Given the description of an element on the screen output the (x, y) to click on. 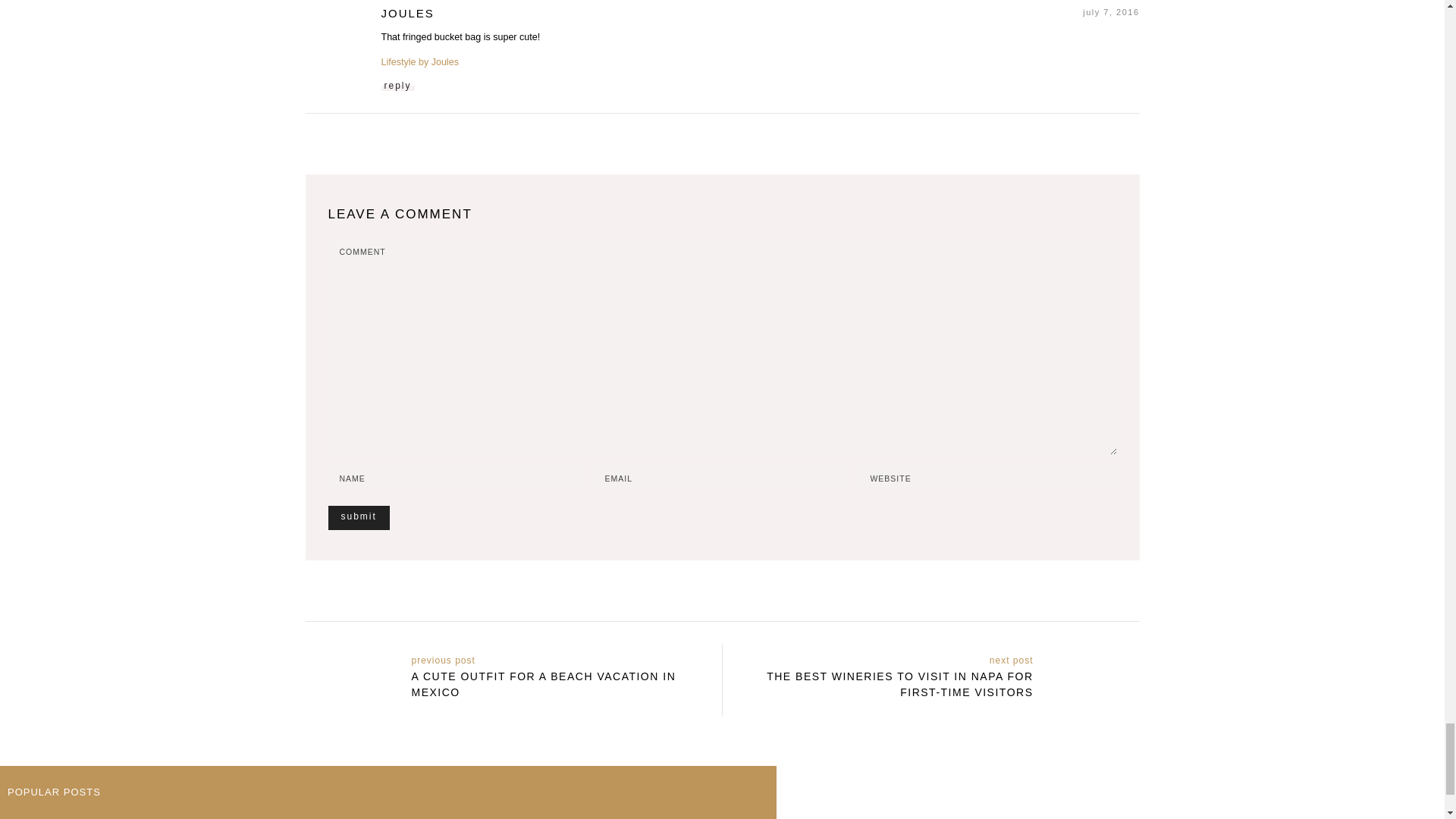
Submit (357, 517)
